Given the description of an element on the screen output the (x, y) to click on. 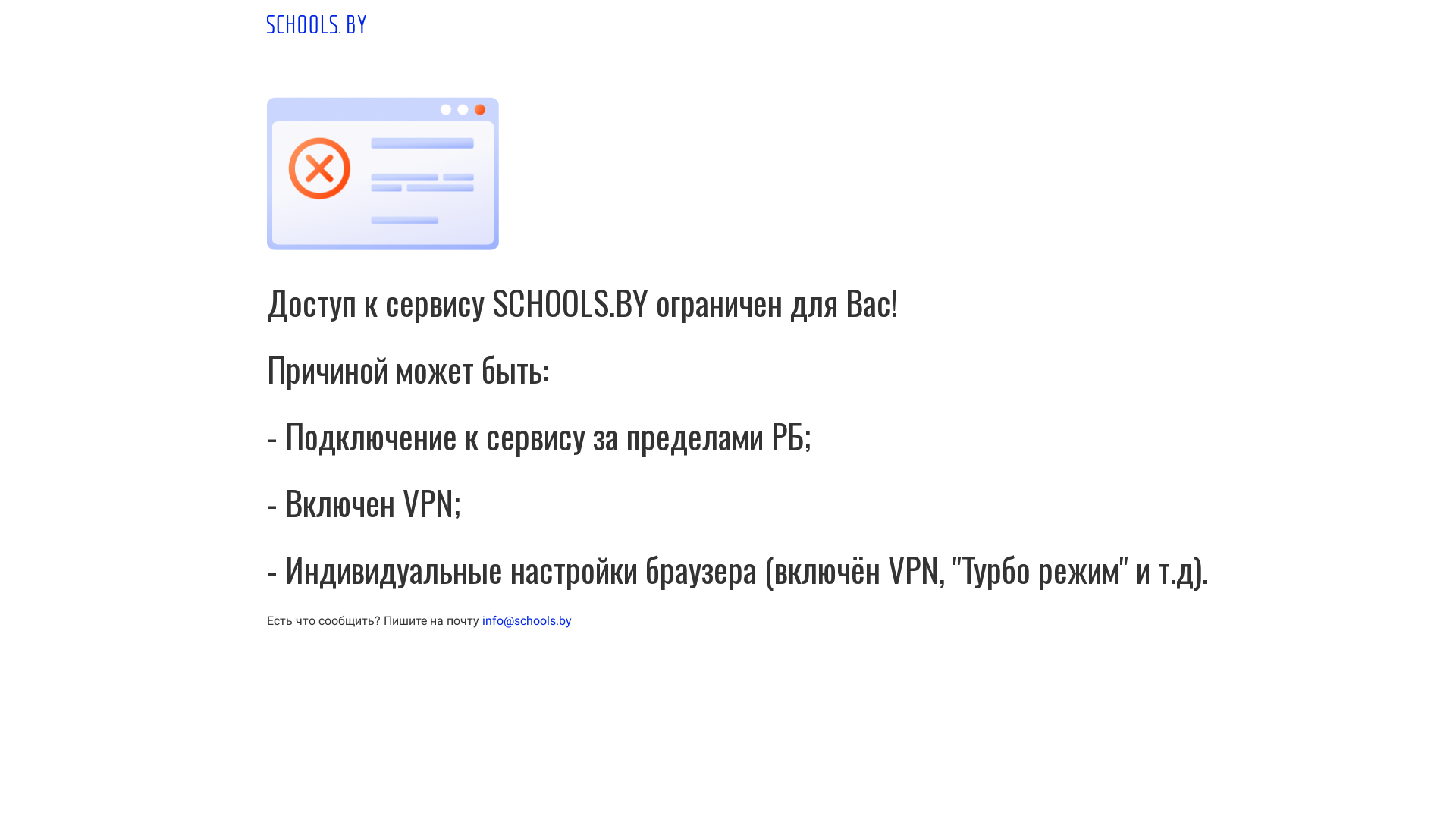
info@schools.by Element type: text (526, 620)
